Given the description of an element on the screen output the (x, y) to click on. 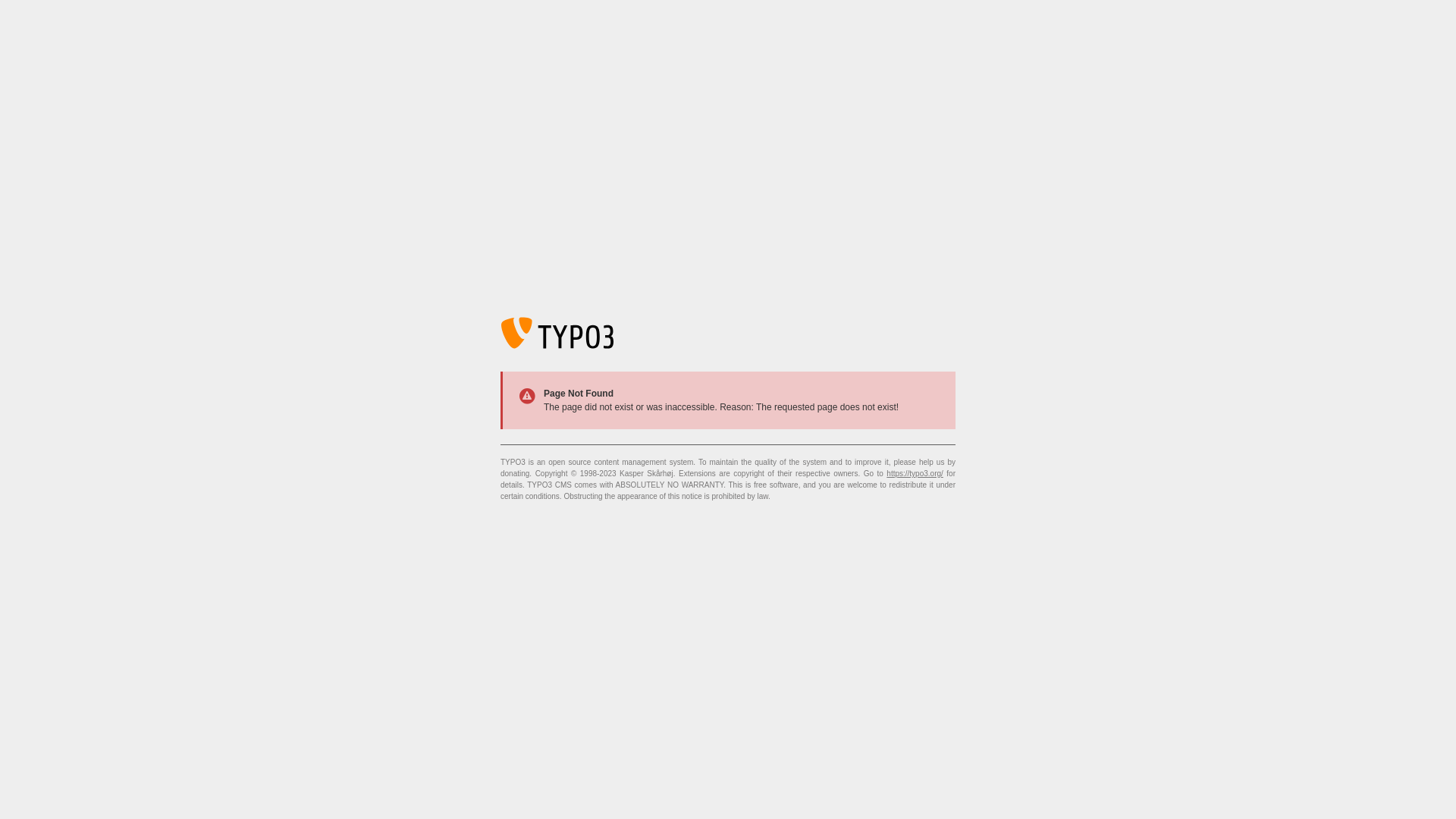
https://typo3.org/ Element type: text (914, 473)
